Given the description of an element on the screen output the (x, y) to click on. 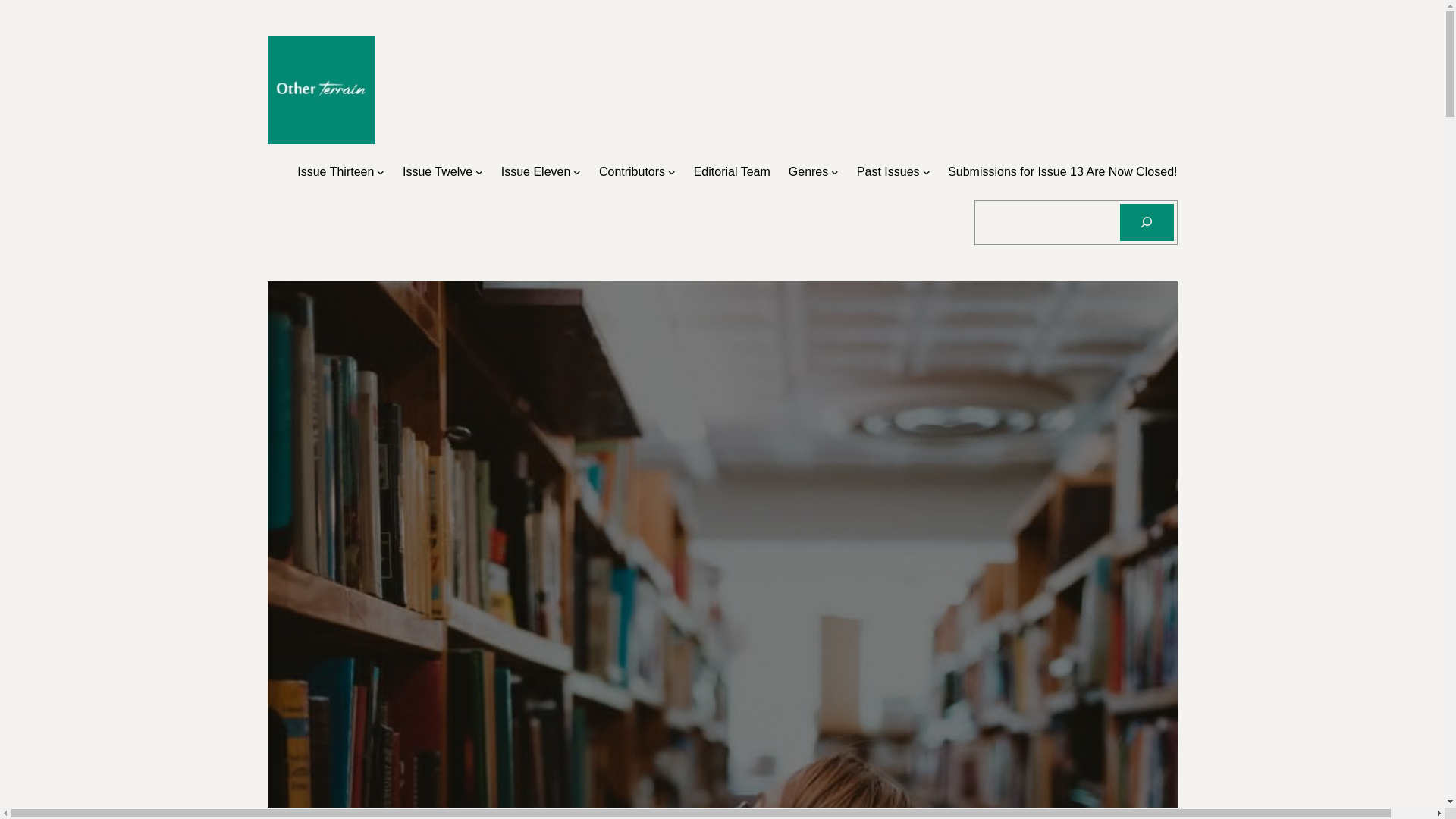
Genres (808, 171)
Editorial Team (732, 171)
Issue Eleven (535, 171)
Issue Thirteen (335, 171)
Contributors (631, 171)
Issue Twelve (437, 171)
